Given the description of an element on the screen output the (x, y) to click on. 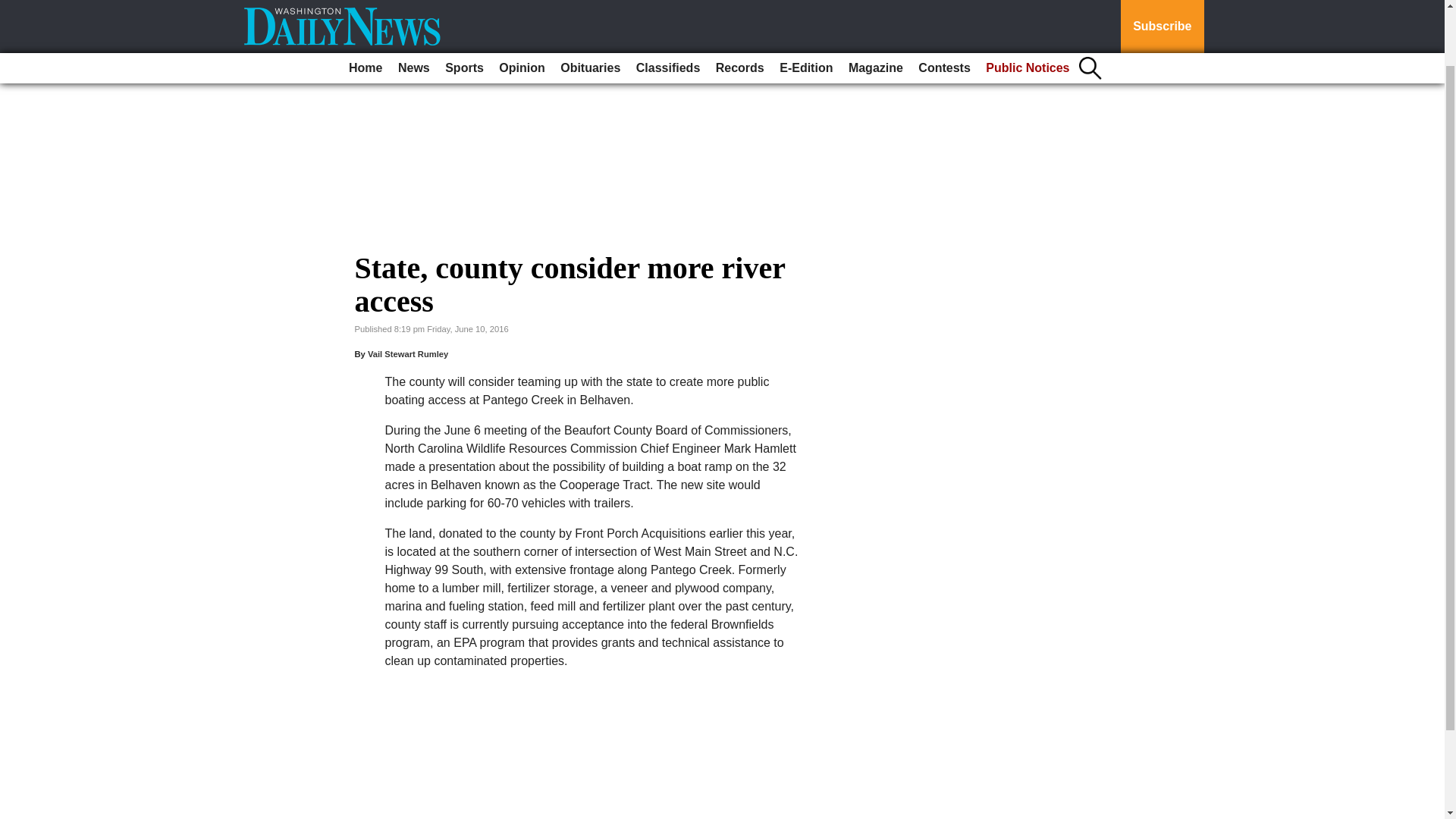
Contests (943, 7)
Home (365, 7)
Records (740, 7)
Public Notices (1027, 7)
Vail Stewart Rumley (408, 353)
Sports (464, 7)
Classifieds (668, 7)
News (413, 7)
Obituaries (590, 7)
Magazine (875, 7)
